Given the description of an element on the screen output the (x, y) to click on. 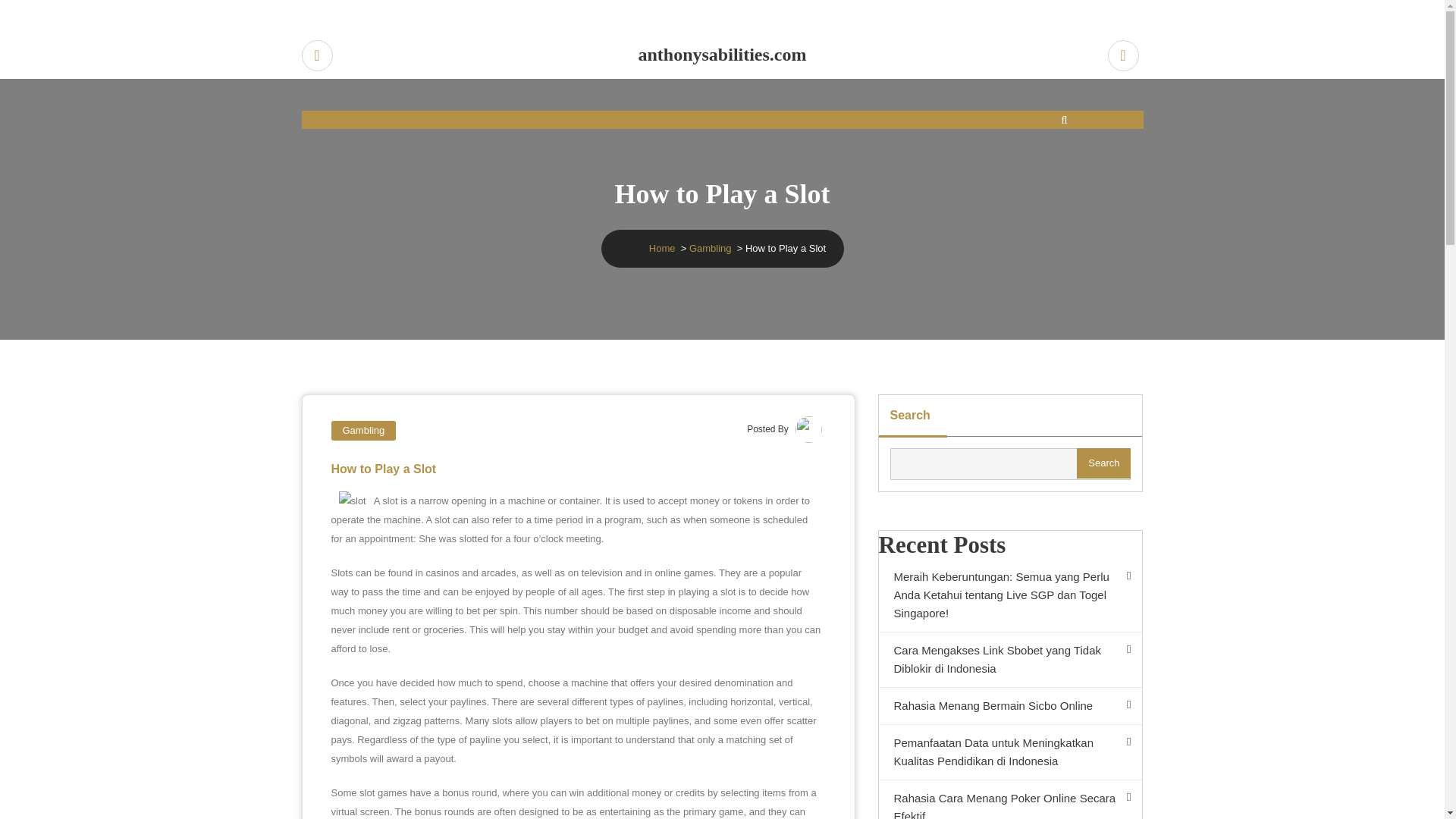
Search (1104, 462)
Gambling (710, 247)
Home (662, 247)
Rahasia Menang Bermain Sicbo Online (1009, 705)
Gambling (363, 430)
anthonysabilities.com (722, 54)
Rahasia Cara Menang Poker Online Secara Efektif (1009, 799)
Cara Mengakses Link Sbobet yang Tidak Diblokir di Indonesia (1009, 659)
